Given the description of an element on the screen output the (x, y) to click on. 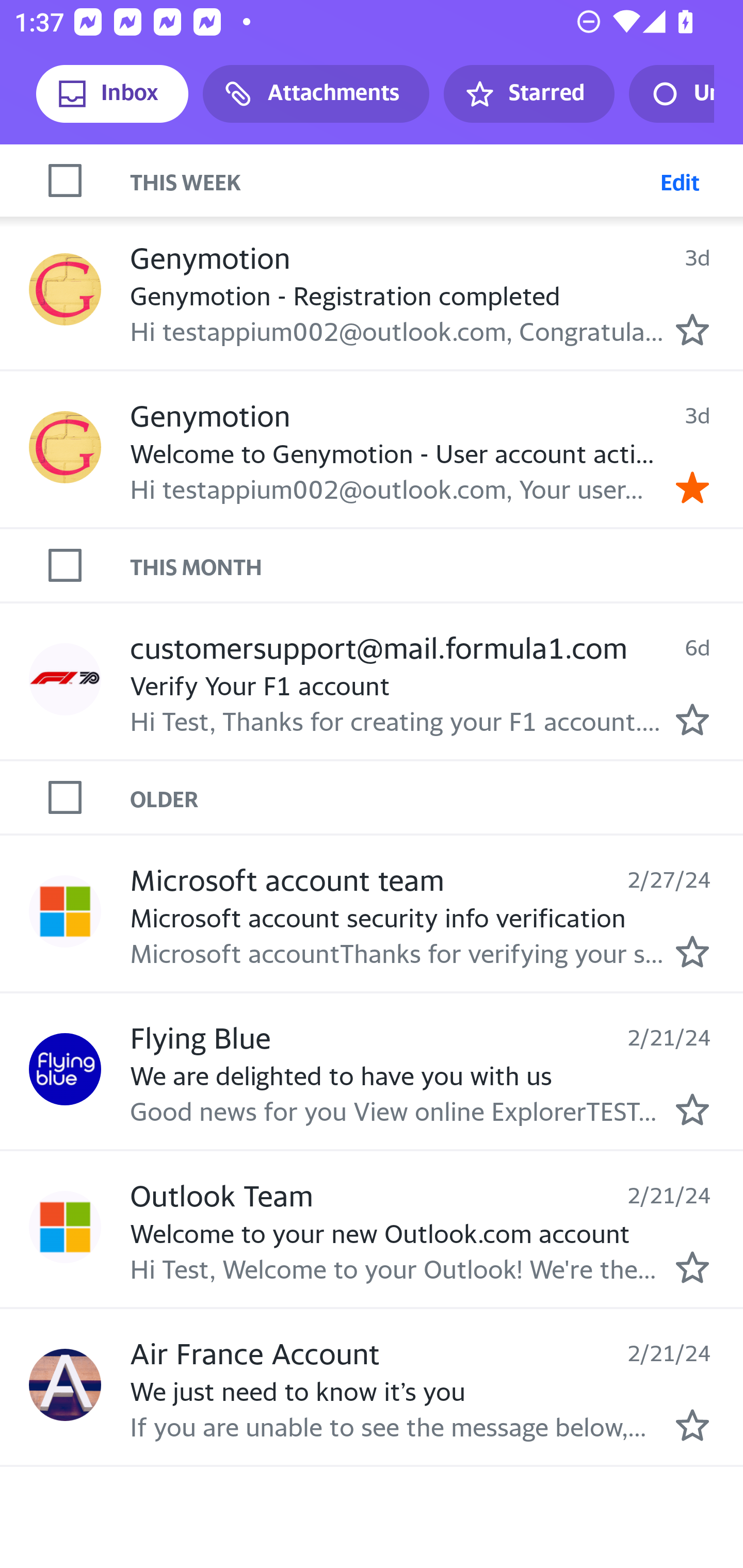
Attachments (315, 93)
Starred (528, 93)
Profile
Genymotion (64, 290)
Mark as starred. (692, 330)
Profile
Genymotion (64, 446)
Remove star. (692, 486)
THIS MONTH (436, 565)
Profile
customersupport@mail.formula1.com (64, 678)
Mark as starred. (692, 718)
OLDER (436, 797)
Profile
Microsoft account team (64, 910)
Mark as starred. (692, 950)
Profile
Flying Blue (64, 1069)
Mark as starred. (692, 1109)
Profile
Outlook Team (64, 1227)
Mark as starred. (692, 1267)
Profile
Air France Account (64, 1384)
Mark as starred. (692, 1424)
